Given the description of an element on the screen output the (x, y) to click on. 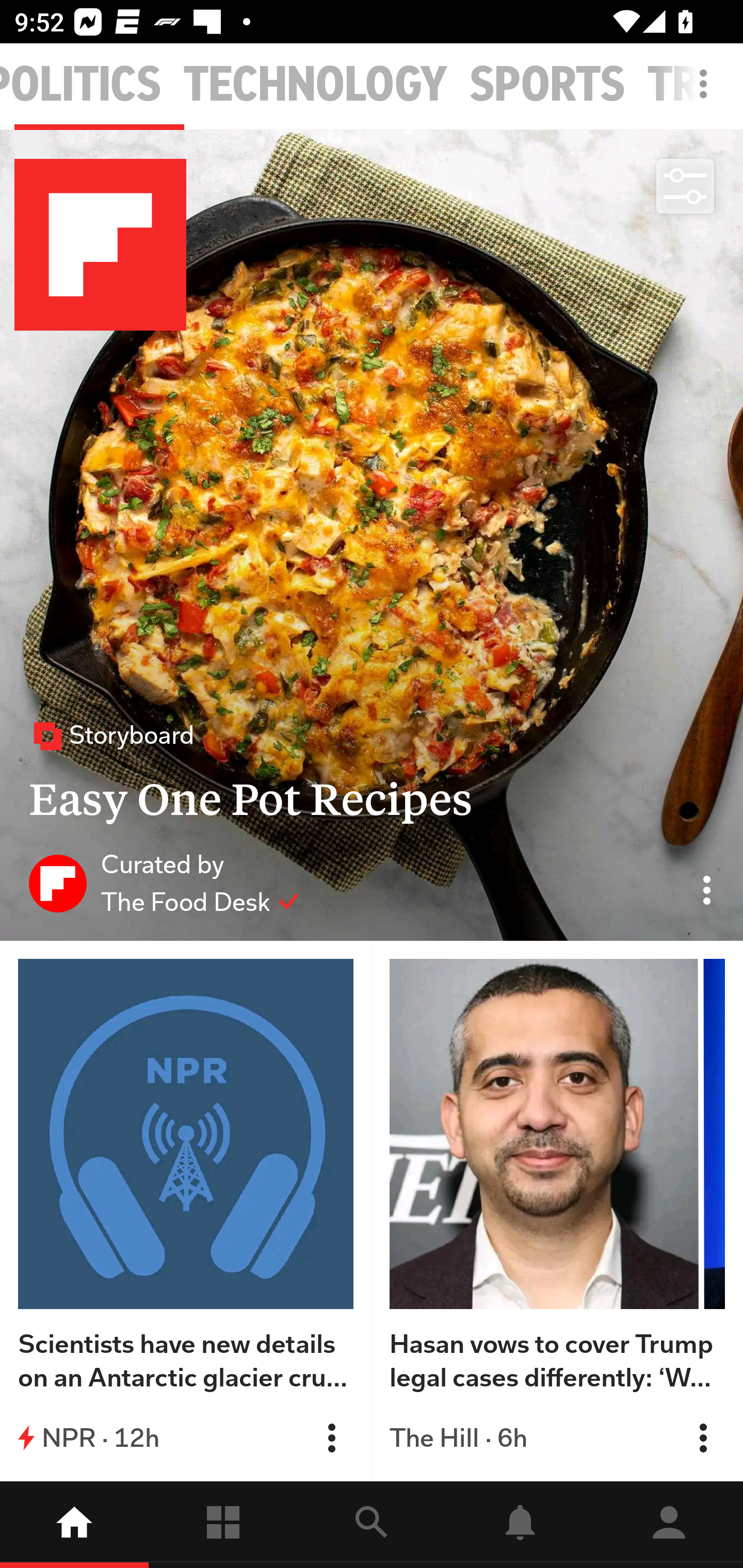
TECHNOLOGY (315, 84)
SPORTS (547, 84)
More options (706, 93)
Curated by The Food Desk (163, 882)
NPR · 12h Flip into Magazine (185, 1437)
The Hill · 6h Flip into Magazine (557, 1437)
Flip into Magazine (331, 1437)
Flip into Magazine (703, 1437)
home (74, 1524)
Following (222, 1524)
explore (371, 1524)
Notifications (519, 1524)
Profile (668, 1524)
